Given the description of an element on the screen output the (x, y) to click on. 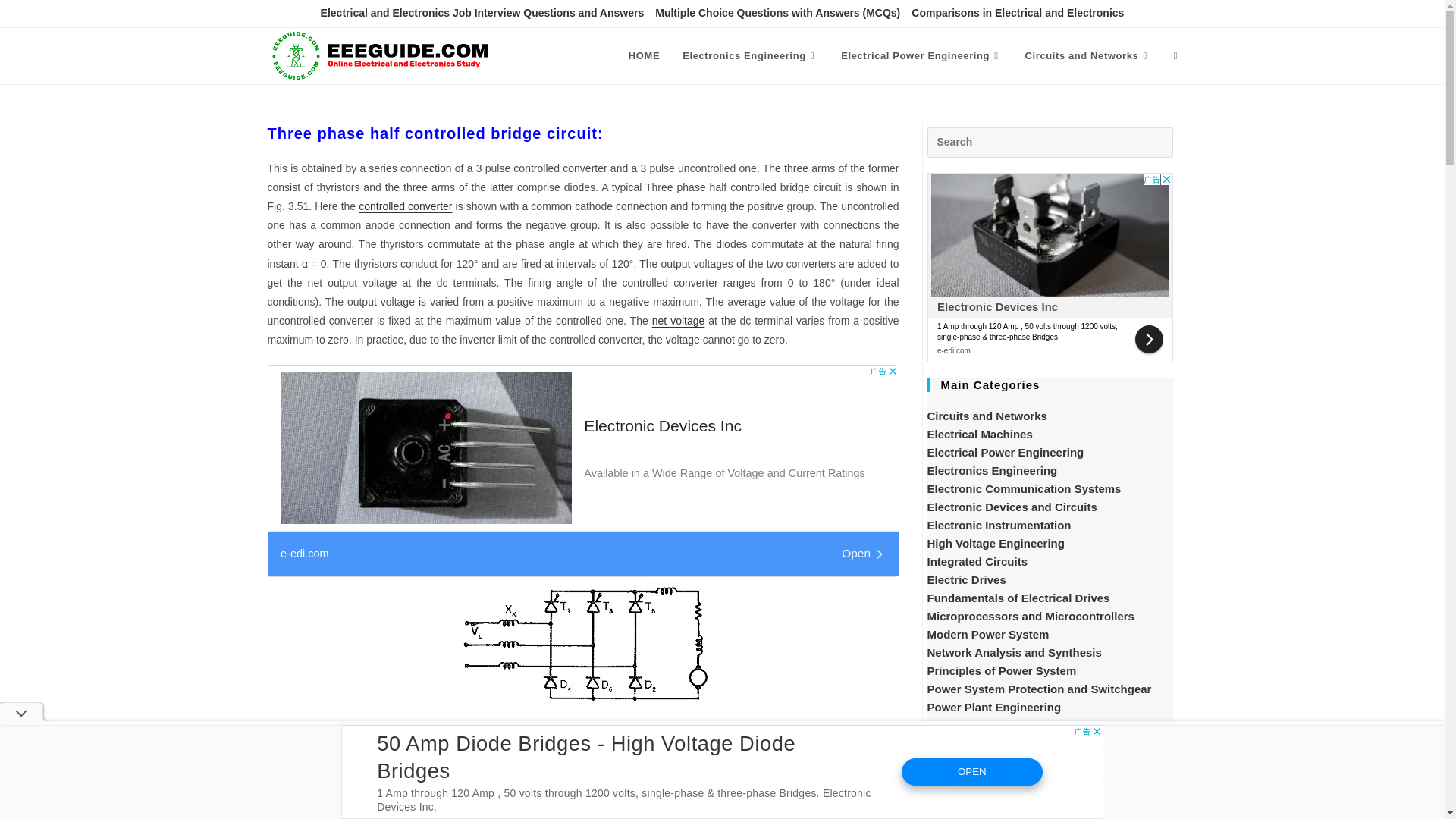
Advertisement (1049, 267)
Comparisons in Electrical and Electronics (1017, 13)
Electrical Power Engineering (921, 55)
Circuits and Networks (1087, 55)
Advertisement (1049, 802)
Electronics Engineering (750, 55)
HOME (644, 55)
